Given the description of an element on the screen output the (x, y) to click on. 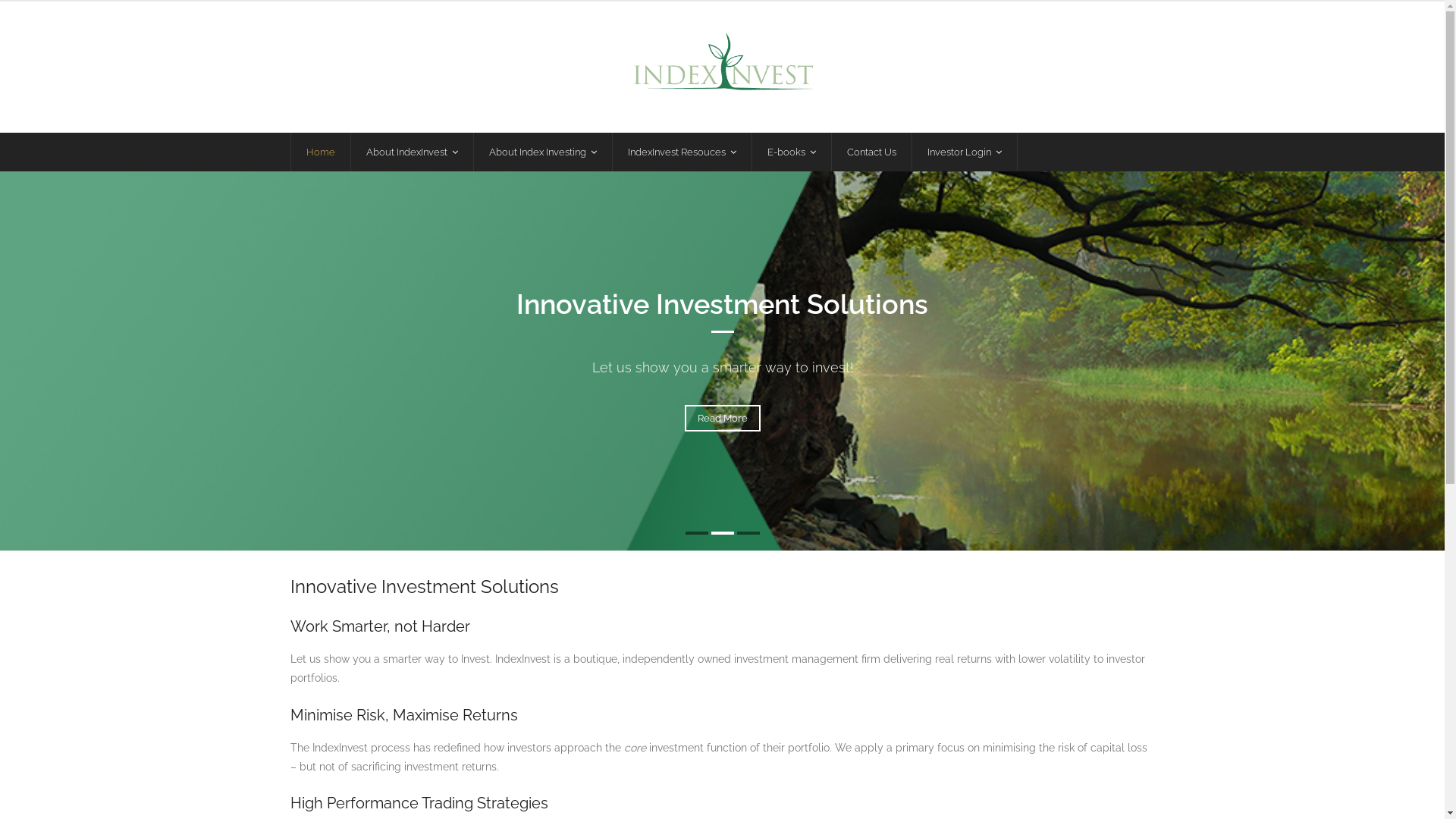
About Index Investing Element type: text (542, 151)
3 Element type: text (748, 532)
Investor Login Element type: text (964, 151)
E-books Element type: text (790, 151)
Home Element type: text (319, 151)
1 Element type: text (696, 532)
2 Element type: text (722, 532)
About IndexInvest Element type: text (411, 151)
Contact Us Element type: text (871, 151)
Read More Element type: text (721, 417)
IndexInvest Resouces Element type: text (680, 151)
